Given the description of an element on the screen output the (x, y) to click on. 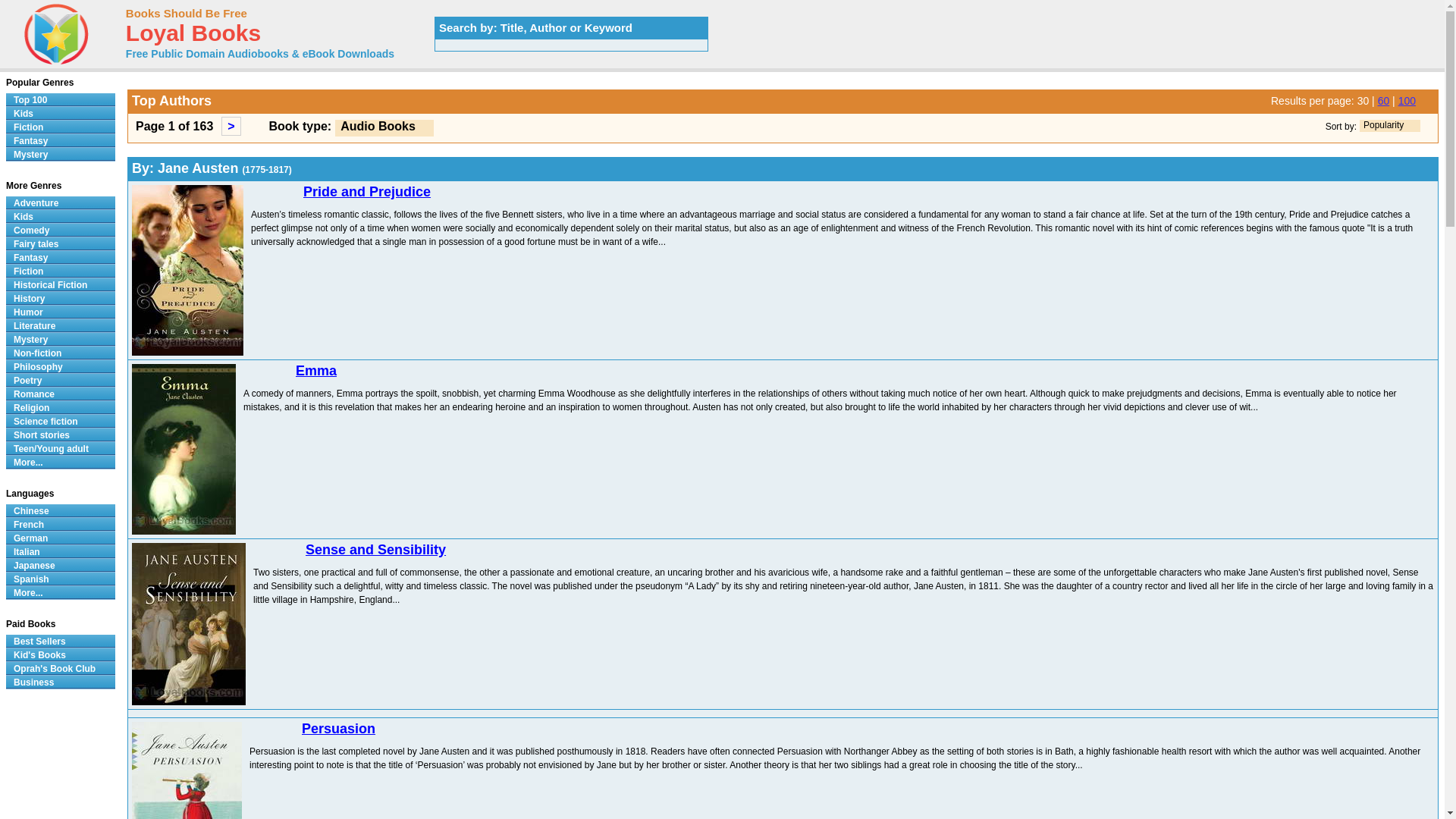
100 (1406, 101)
Pride and Prejudice (366, 191)
Loyal Books (192, 36)
60 (1383, 101)
Audio Books (377, 126)
Popularity (1382, 124)
Popularity (1390, 125)
Audio Books (383, 127)
Sense and Sensibility (375, 549)
Emma (315, 370)
